Given the description of an element on the screen output the (x, y) to click on. 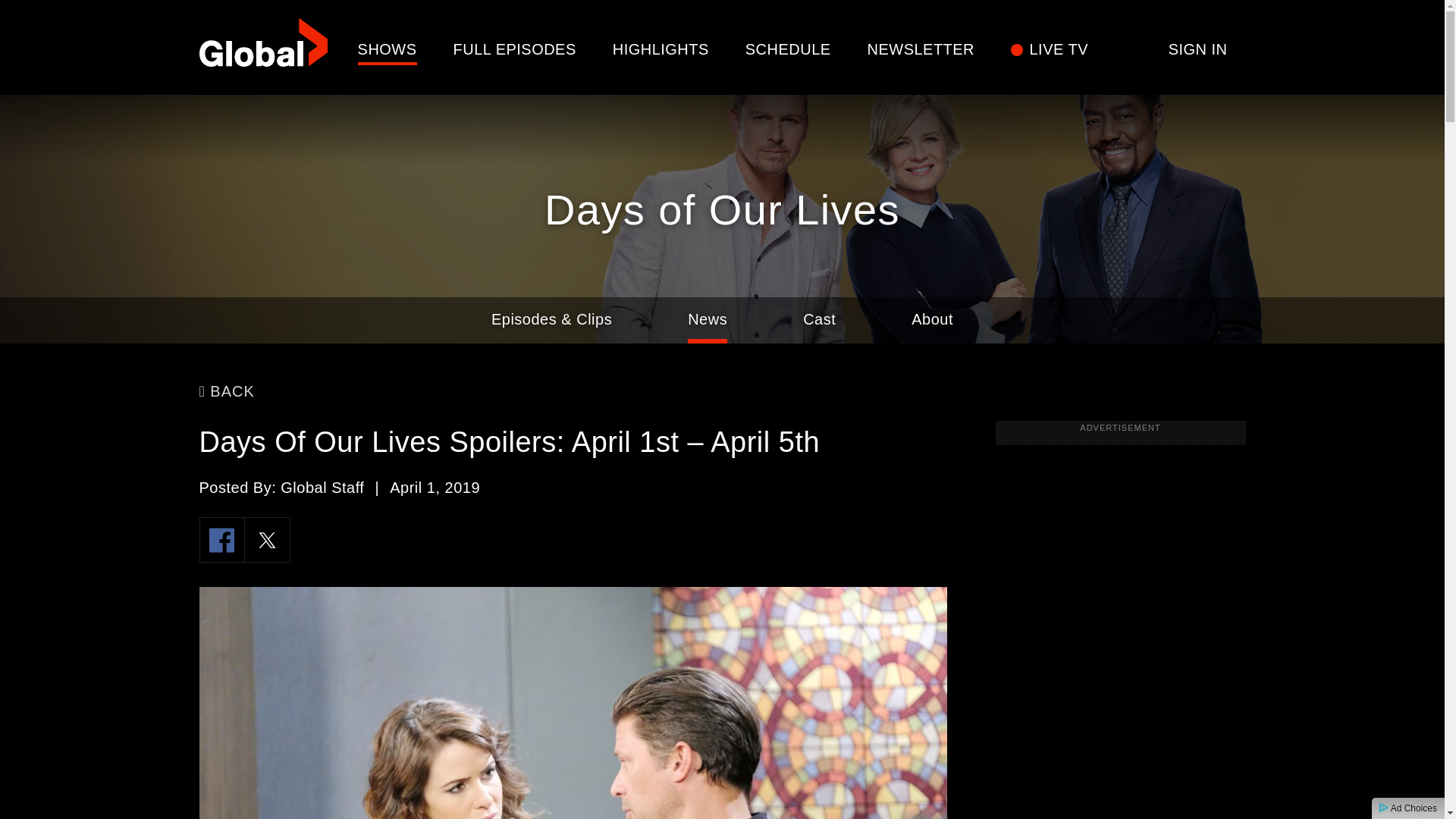
SHOWS (387, 48)
Highlights (660, 48)
SHOWS (387, 48)
SIGN IN (1198, 48)
News (706, 319)
LIVE TV (1058, 48)
Sign In (1198, 48)
FULL EPISODES (514, 48)
NEWSLETTER (920, 48)
News (706, 319)
globaltv (262, 47)
SCHEDULE (788, 48)
About (932, 319)
FULL EPISODES (514, 48)
SCHEDULE (788, 48)
